Given the description of an element on the screen output the (x, y) to click on. 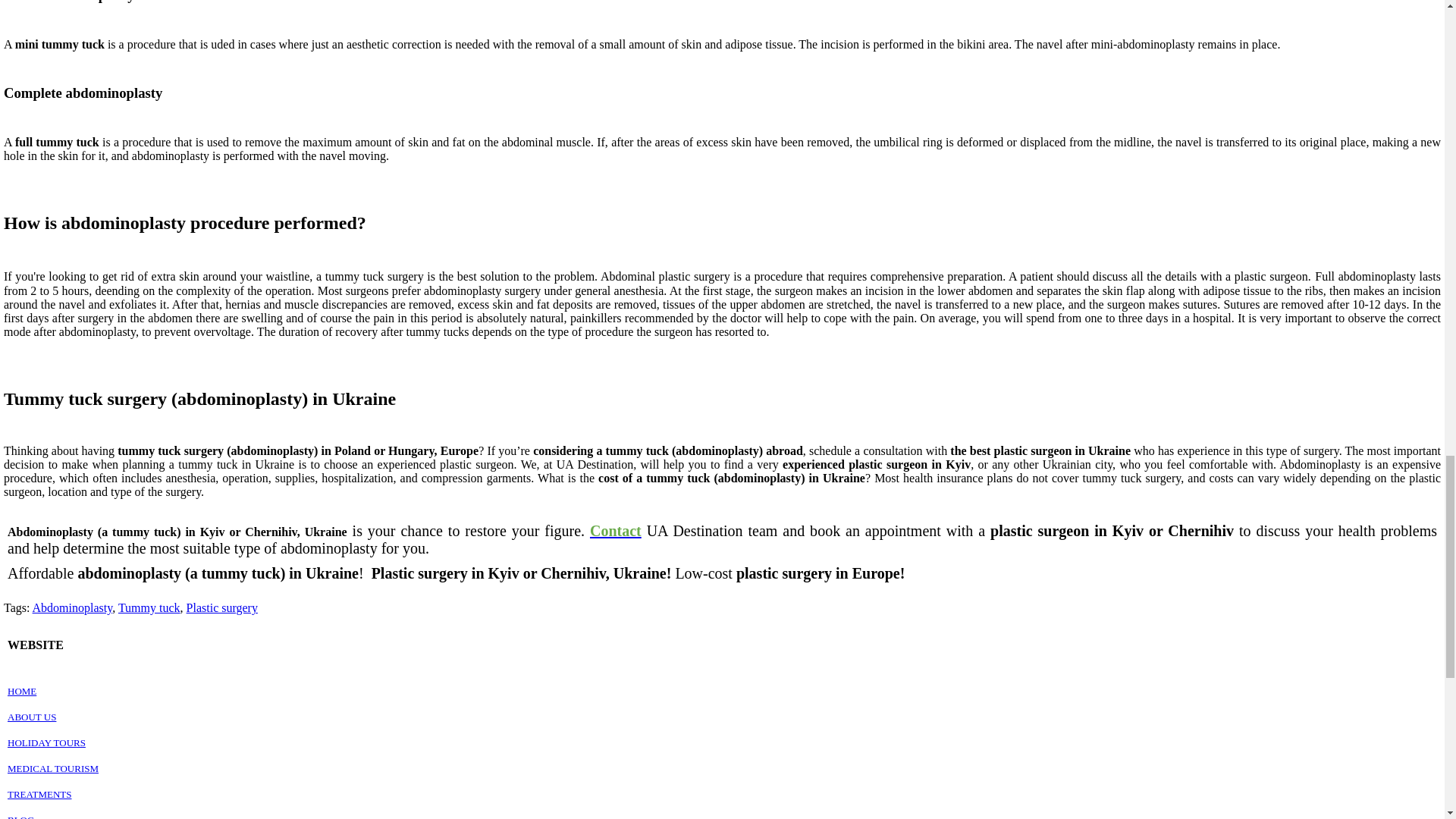
TREATMENTS (39, 793)
HOME (21, 690)
HOLIDAY TOURS (46, 741)
BLOG (20, 816)
ABOUT US (31, 716)
CONTACT (615, 530)
Contact (615, 530)
MEDICAL TOURISM (53, 767)
